Given the description of an element on the screen output the (x, y) to click on. 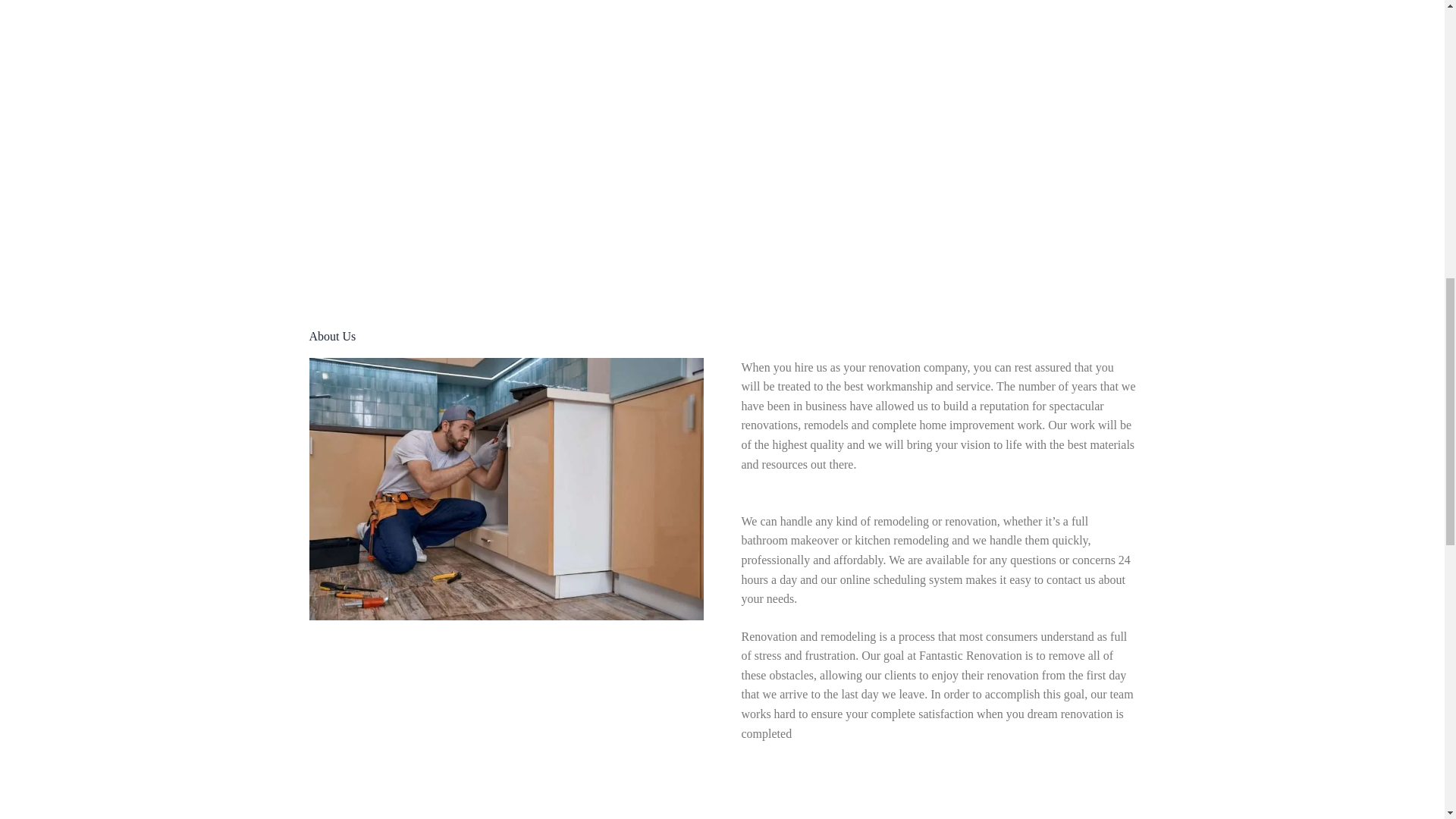
Go to top (1406, 22)
